Given the description of an element on the screen output the (x, y) to click on. 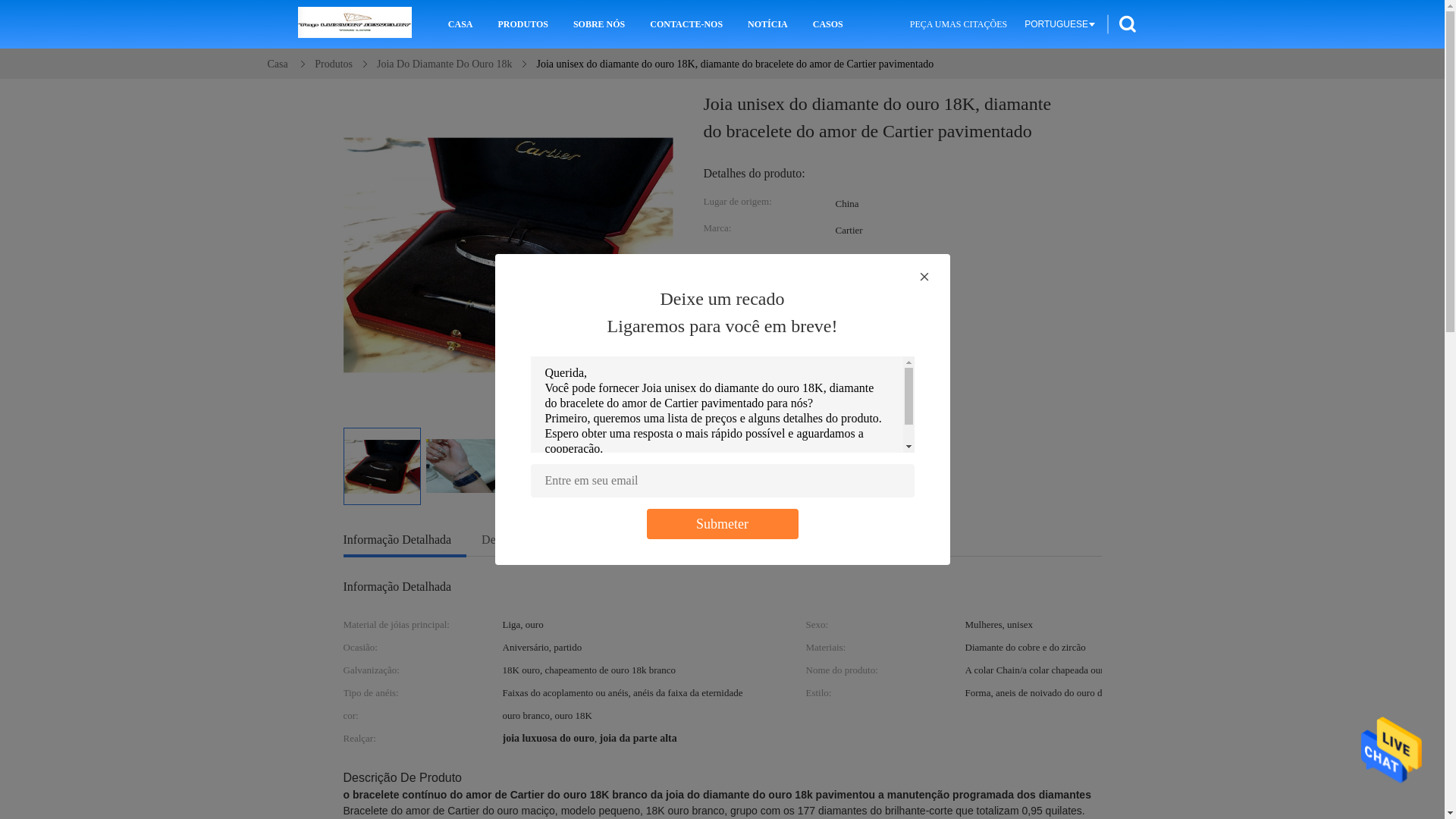
BATE-PAPO Element type: text (886, 476)
CHINA joia do diamante do ouro 18k fabricante Element type: hover (354, 23)
PRODUTOS Element type: text (522, 24)
CONTACTO Element type: text (762, 476)
CASA Element type: text (460, 24)
CASOS Element type: text (828, 24)
Produtos Element type: text (333, 63)
Joia Do Diamante Do Ouro 18k Element type: text (443, 63)
CONTACTE-NOS Element type: text (686, 24)
Casa Element type: text (276, 63)
